Given the description of an element on the screen output the (x, y) to click on. 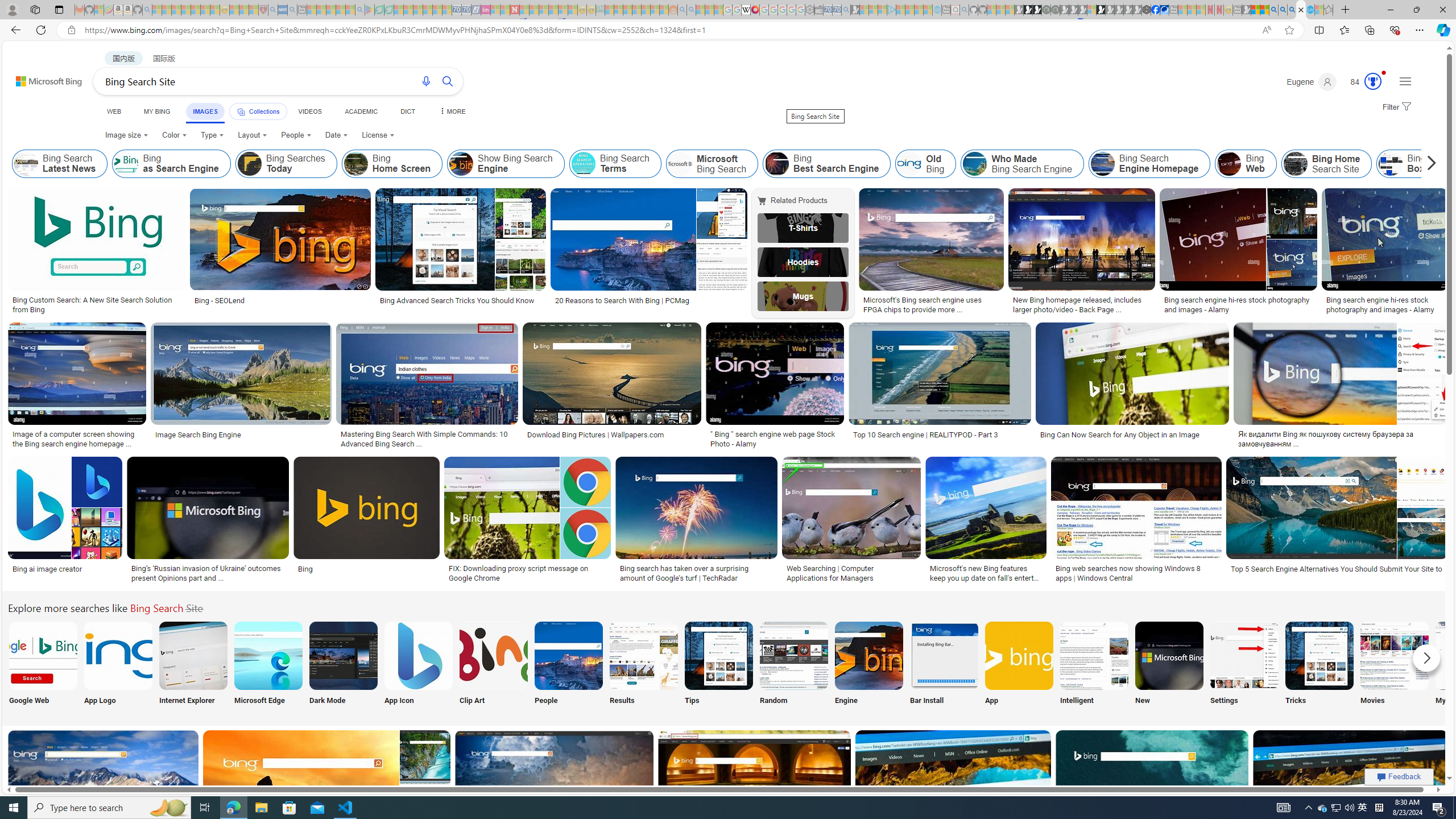
Bing Can Now Search for Any Object in an Image (1131, 434)
Bing Home Search Site (1294, 163)
Bing Search Terms (615, 163)
Nordace - Cooler Bags (1146, 9)
Search button (447, 80)
Bing Search Bar Install (944, 654)
Bing Search App App (1018, 665)
Scroll more suggestions right (1426, 658)
